Given the description of an element on the screen output the (x, y) to click on. 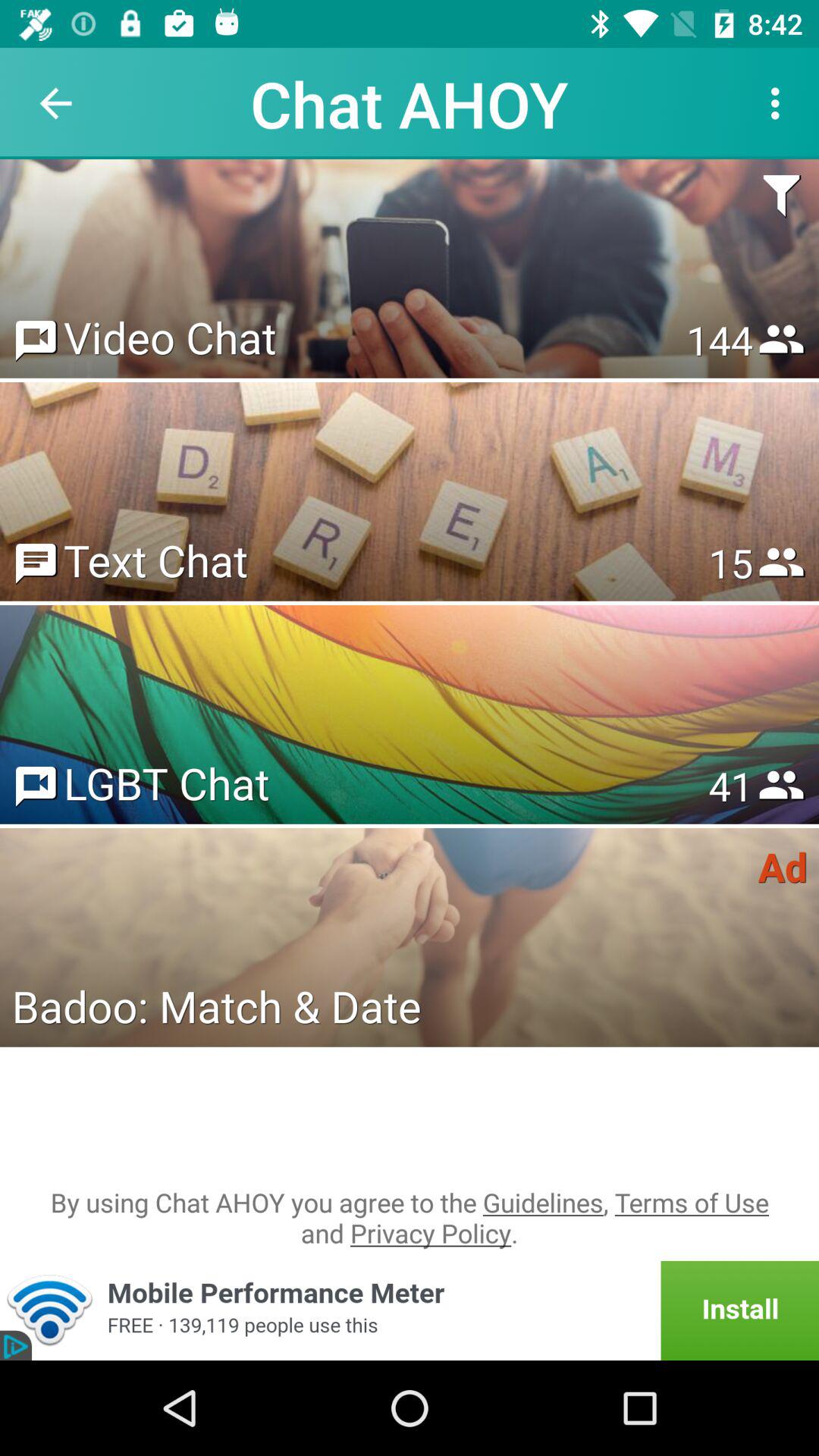
turn on item to the right of text chat icon (730, 562)
